Given the description of an element on the screen output the (x, y) to click on. 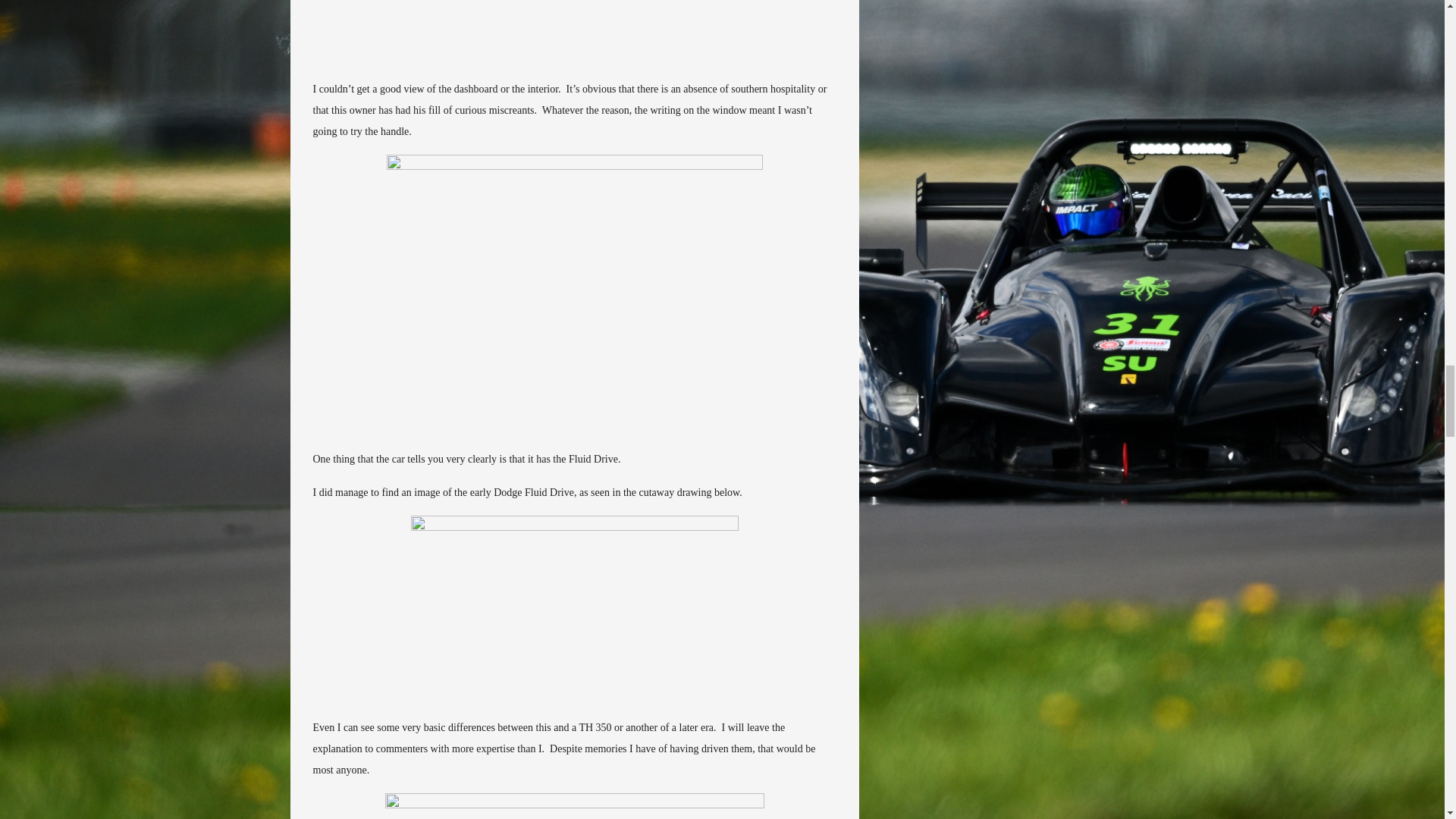
flathead six with oil-bath air cleaner (574, 806)
it says keep out - I did (574, 33)
Fluid Drive cutaway (574, 610)
Fluid Drive (574, 295)
